Given the description of an element on the screen output the (x, y) to click on. 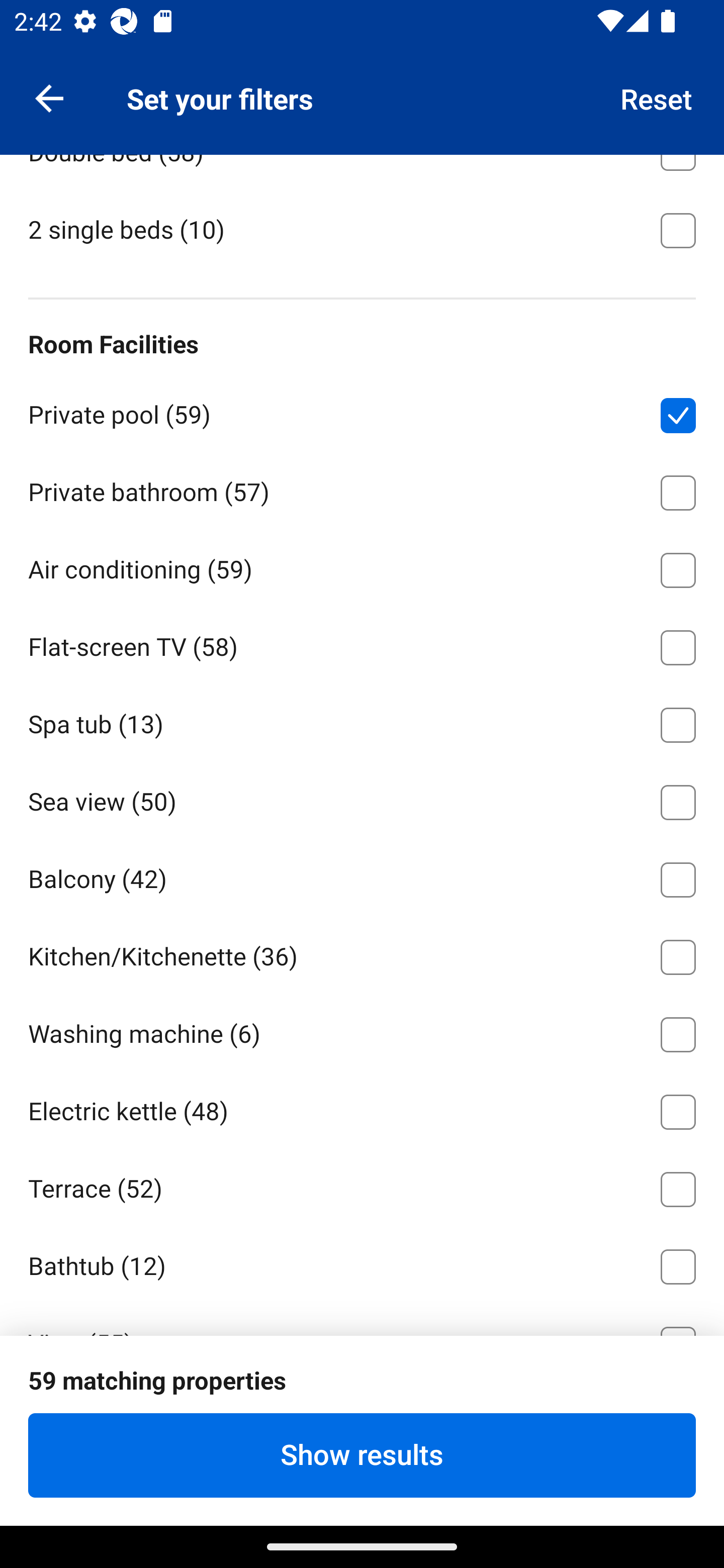
Navigate up (49, 97)
Reset (656, 97)
2 single beds ⁦(10) (361, 228)
Private pool ⁦(59) (361, 412)
Private bathroom ⁦(57) (361, 489)
Air conditioning ⁦(59) (361, 566)
Flat-screen TV ⁦(58) (361, 644)
Spa tub ⁦(13) (361, 721)
Sea view ⁦(50) (361, 798)
Balcony ⁦(42) (361, 876)
Kitchen/Kitchenette ⁦(36) (361, 953)
Washing machine ⁦(6) (361, 1030)
Electric kettle ⁦(48) (361, 1108)
Terrace ⁦(52) (361, 1185)
Bathtub ⁦(12) (361, 1262)
Show results (361, 1454)
